Given the description of an element on the screen output the (x, y) to click on. 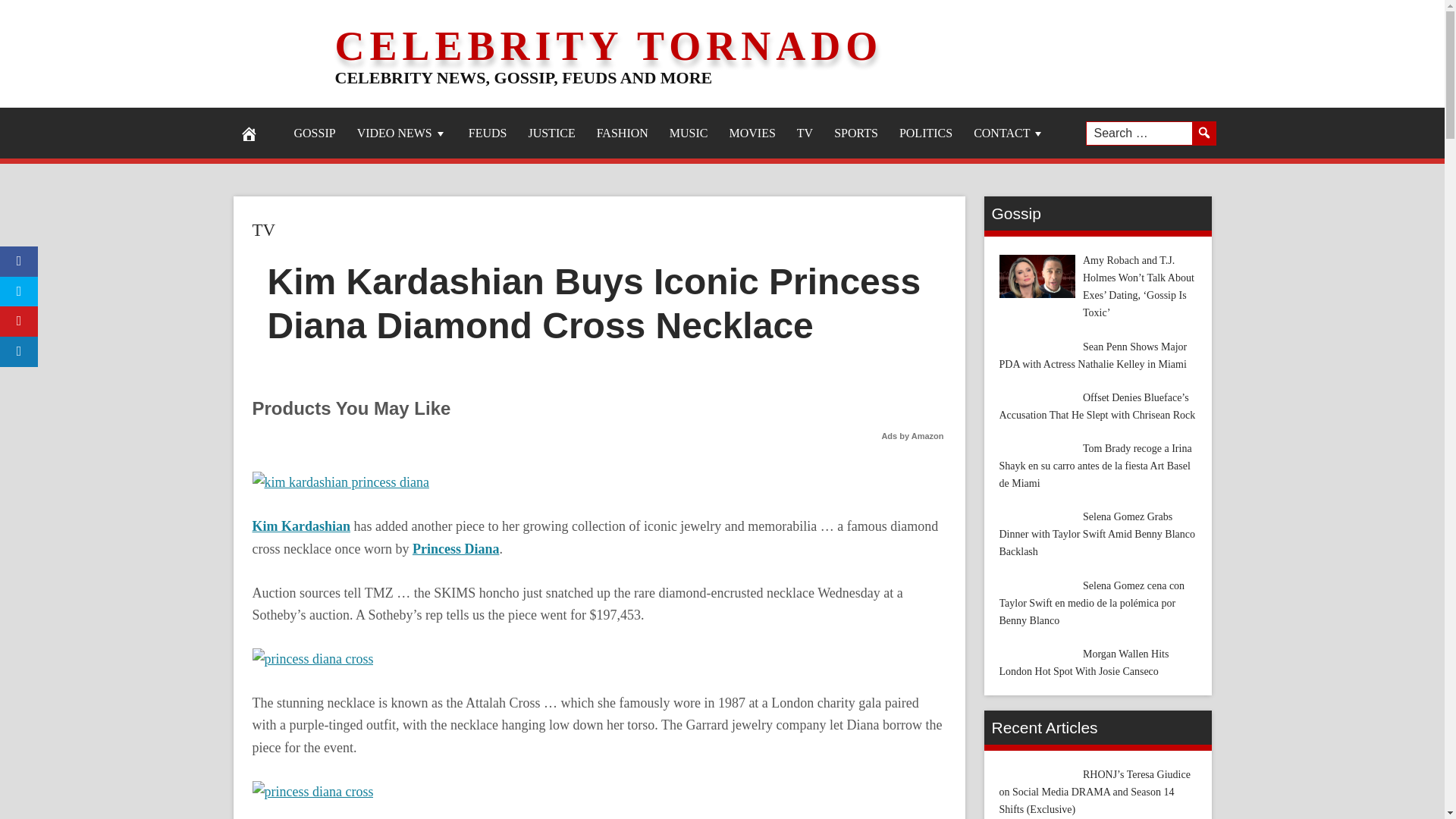
CELEBRITY TORNADO (608, 44)
MUSIC (689, 132)
JUSTICE (550, 132)
TV (263, 229)
FASHION (622, 132)
VIDEO NEWS (402, 132)
GOSSIP (314, 132)
FEUDS (488, 132)
